Given the description of an element on the screen output the (x, y) to click on. 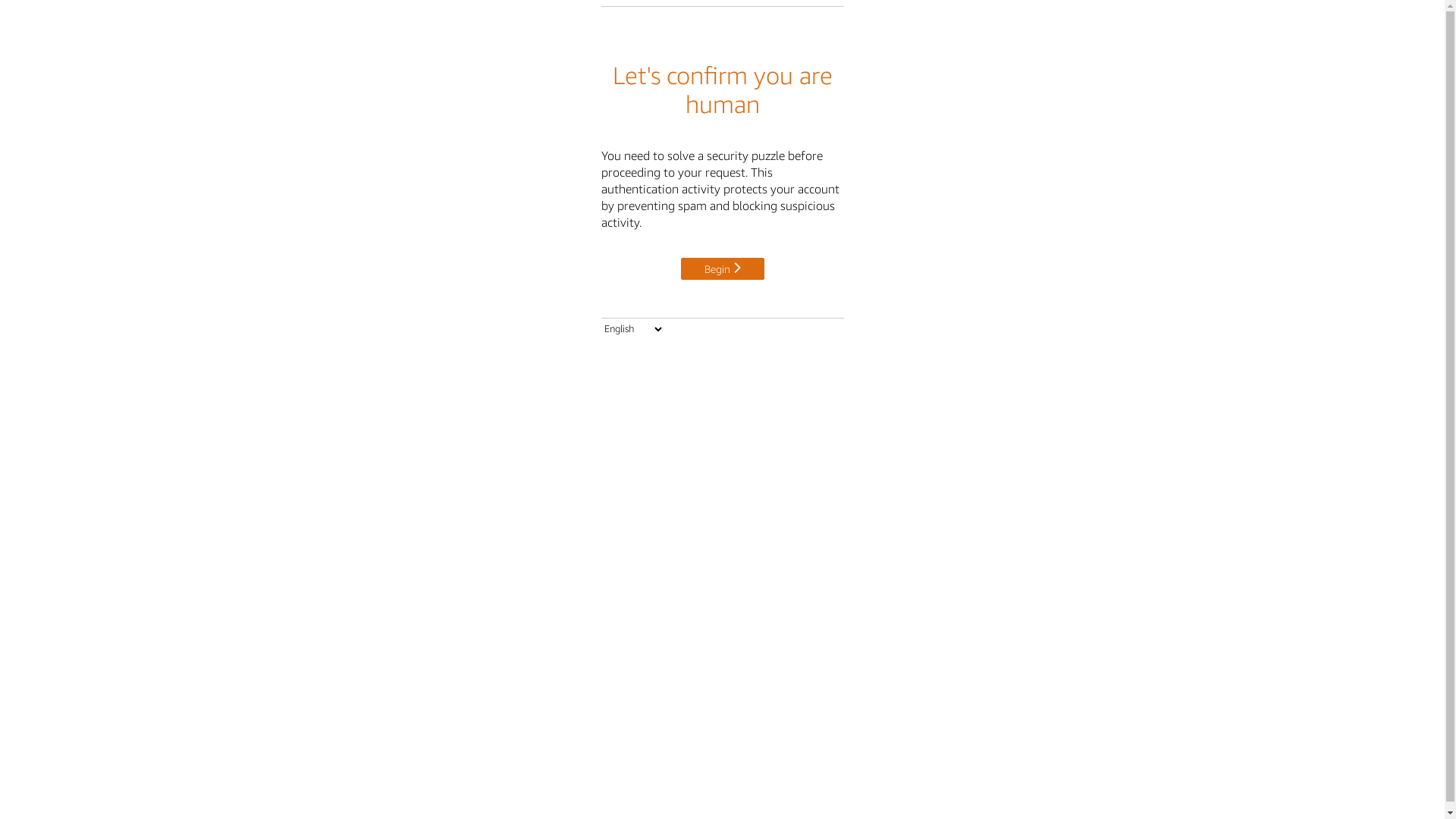
Begin Element type: text (722, 268)
